Given the description of an element on the screen output the (x, y) to click on. 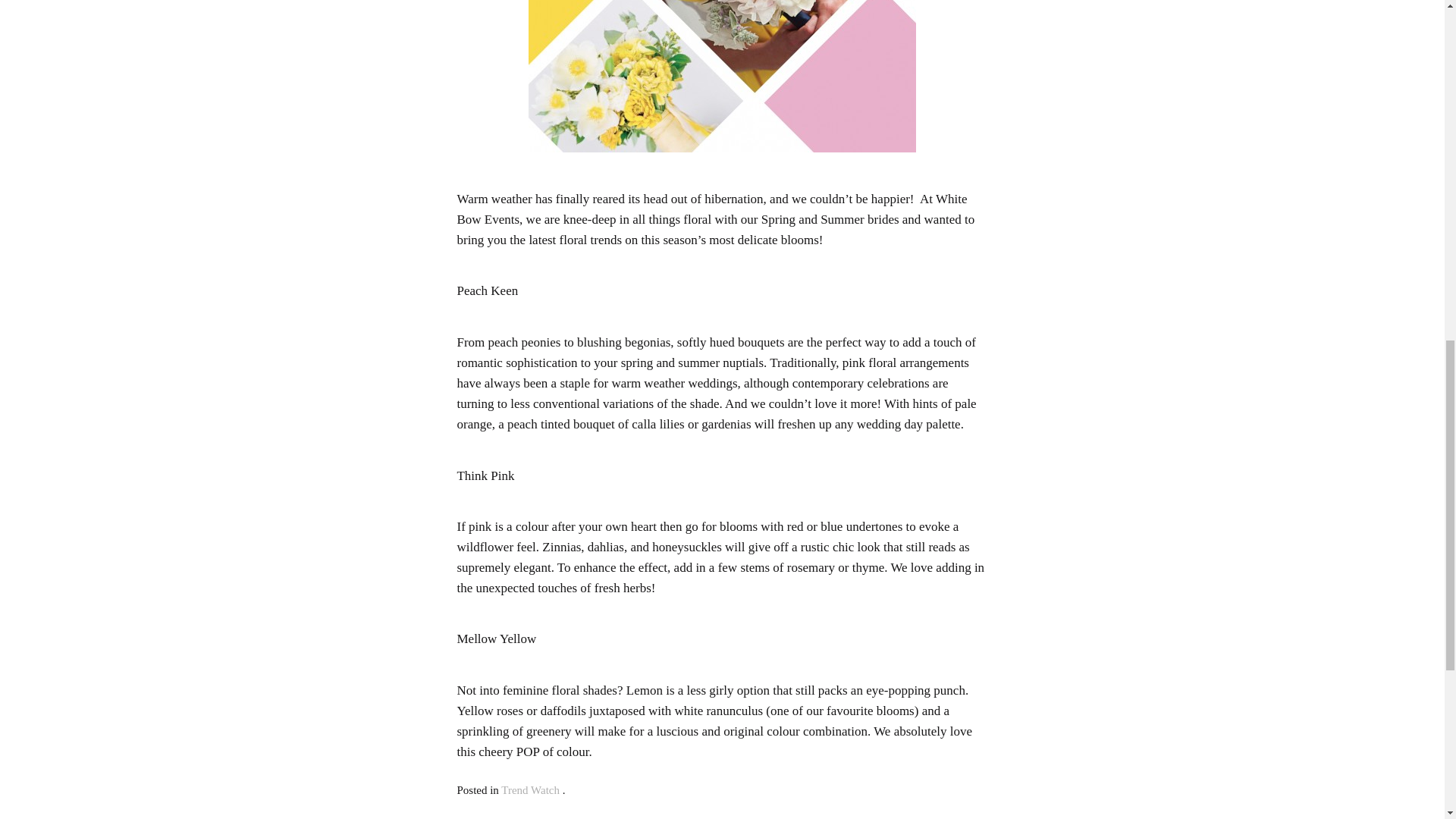
View all posts in Trend Watch (529, 789)
Trend Watch (529, 789)
